Given the description of an element on the screen output the (x, y) to click on. 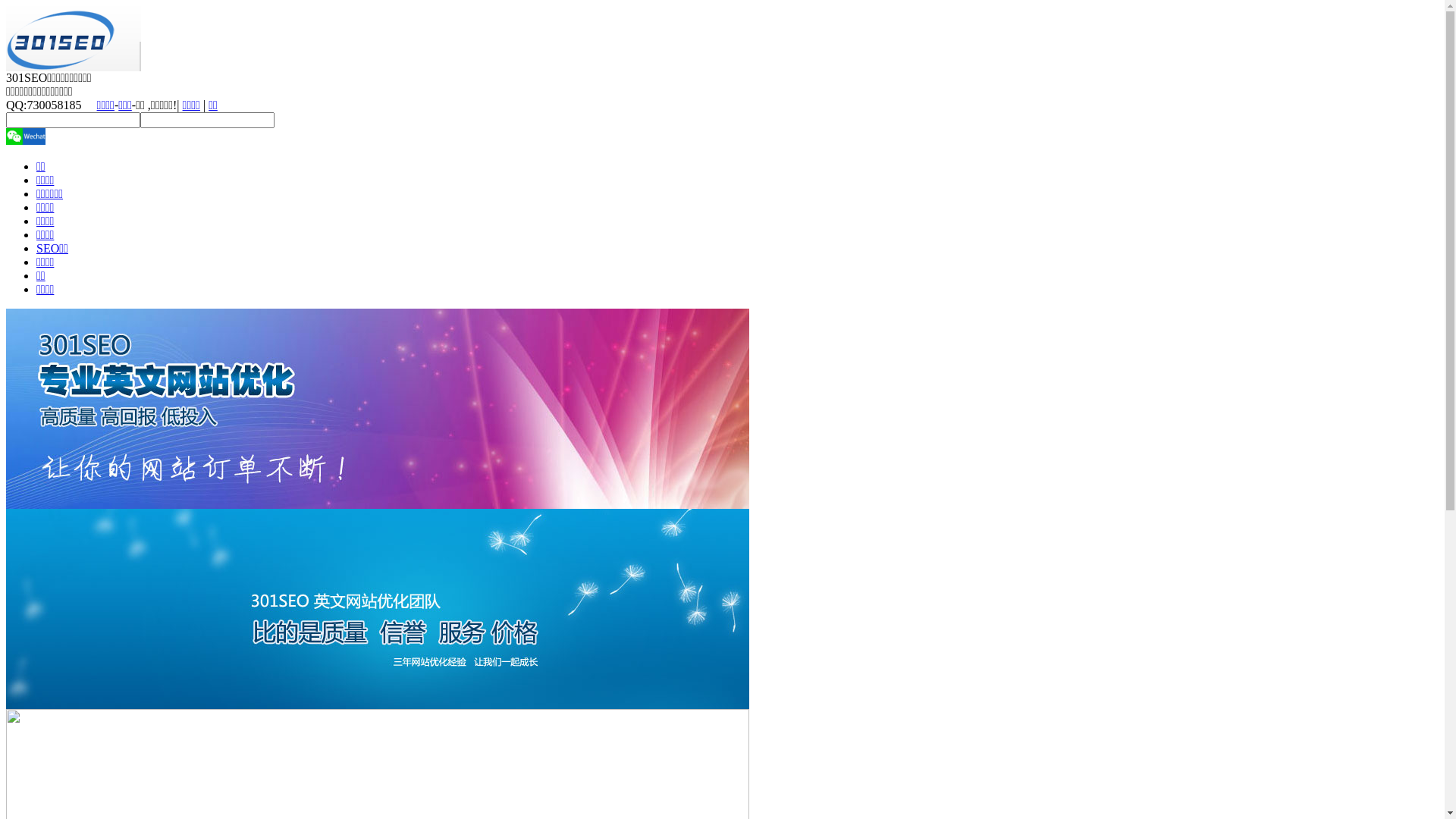
QQ:730058185 Element type: text (43, 104)
